Given the description of an element on the screen output the (x, y) to click on. 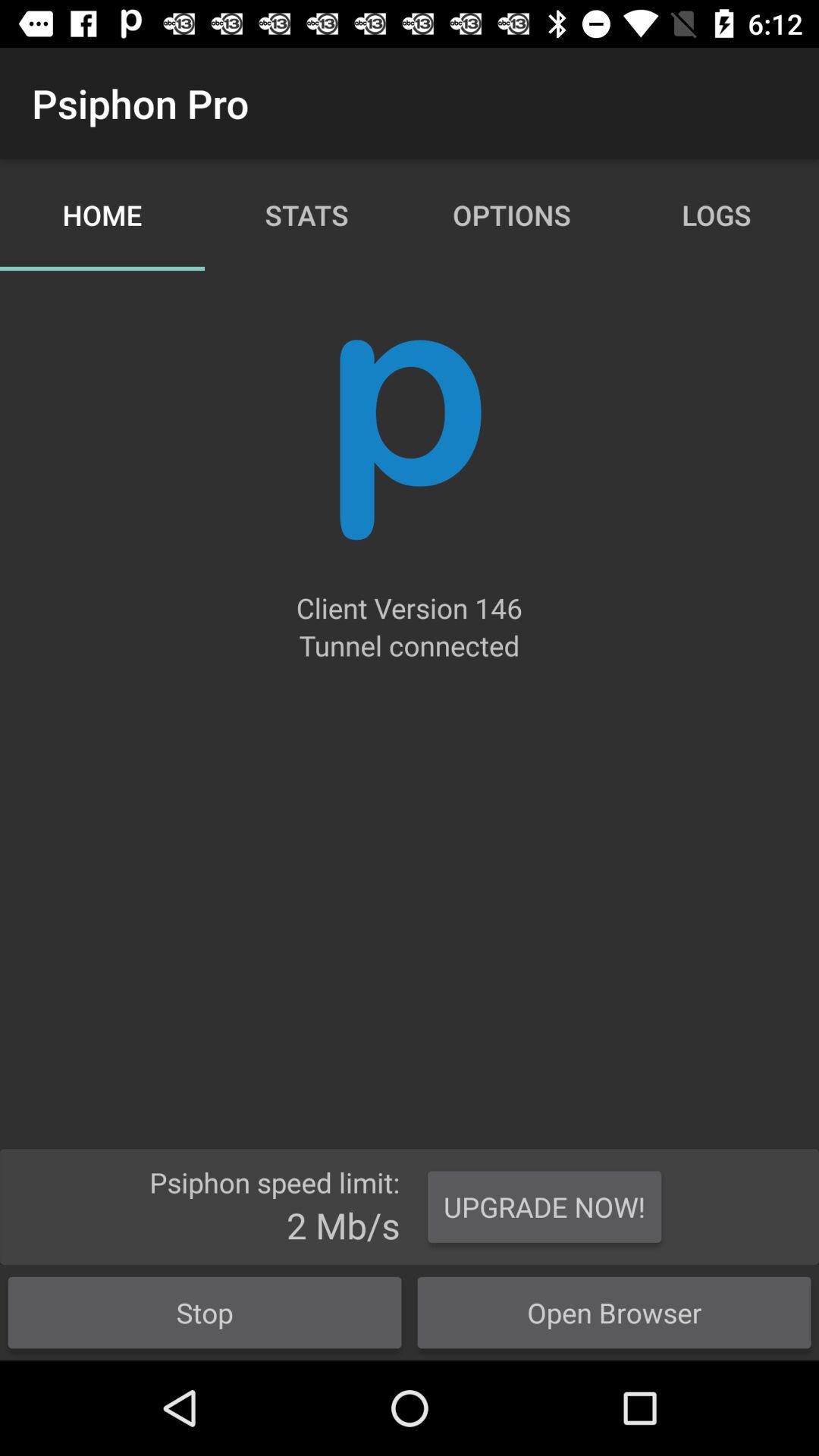
turn off app below the home icon (409, 439)
